Given the description of an element on the screen output the (x, y) to click on. 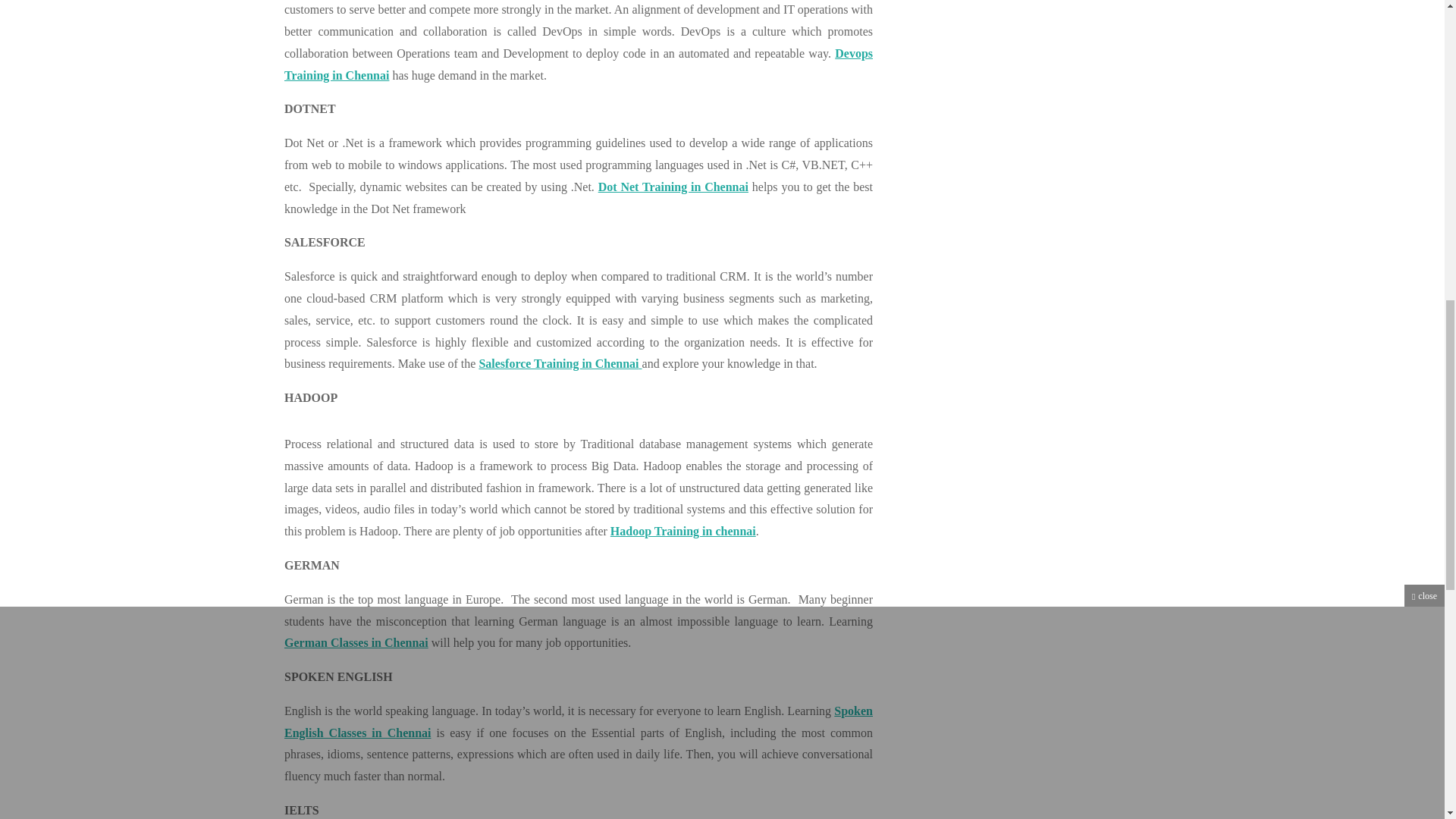
Devops Training in Chennai (577, 63)
Salesforce Training in Chennai (560, 363)
Dot Net Training in Chennai (672, 186)
Hadoop Training in chennai (682, 530)
